Given the description of an element on the screen output the (x, y) to click on. 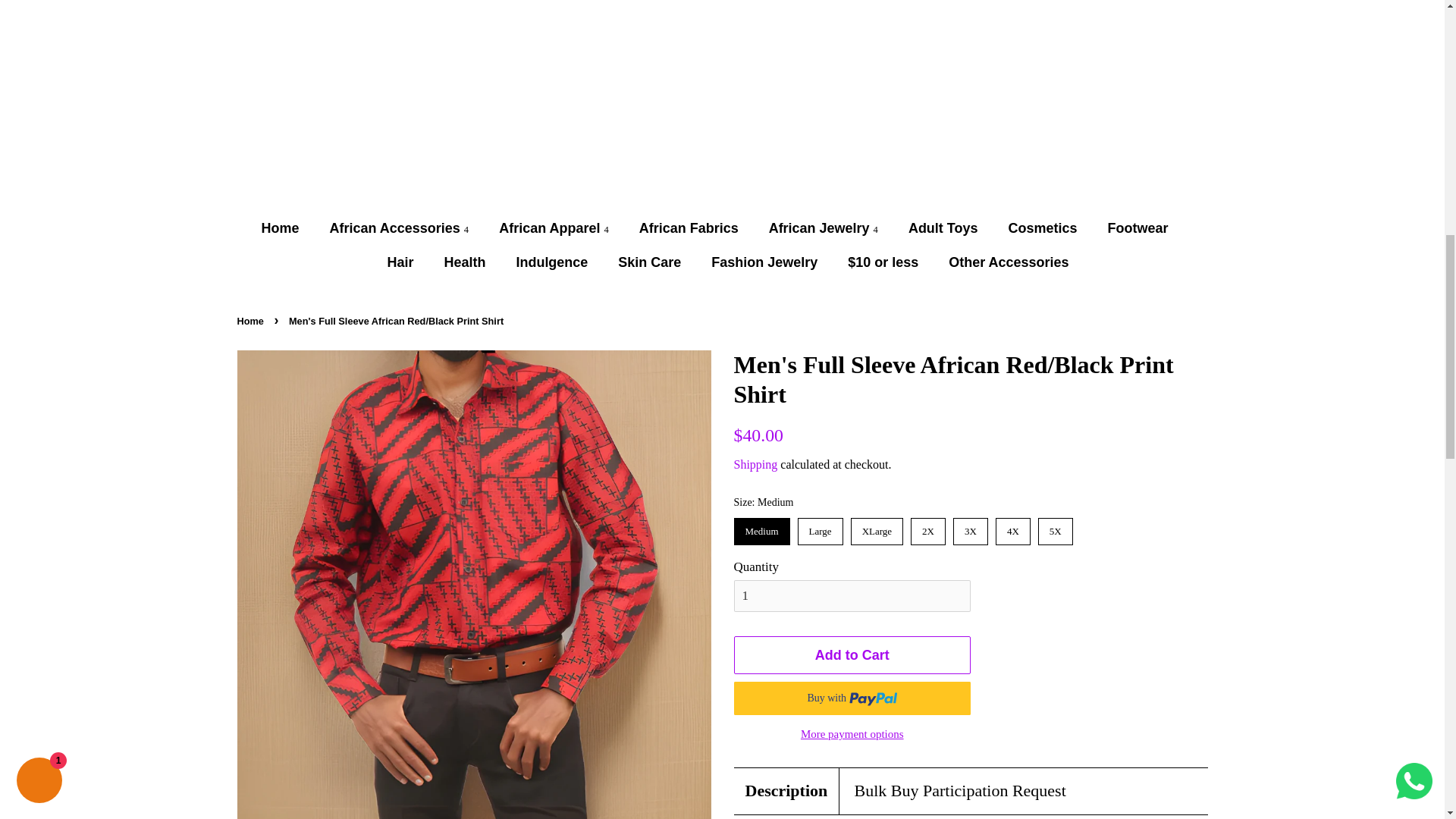
Back to the frontpage (250, 320)
1 (852, 595)
